Given the description of an element on the screen output the (x, y) to click on. 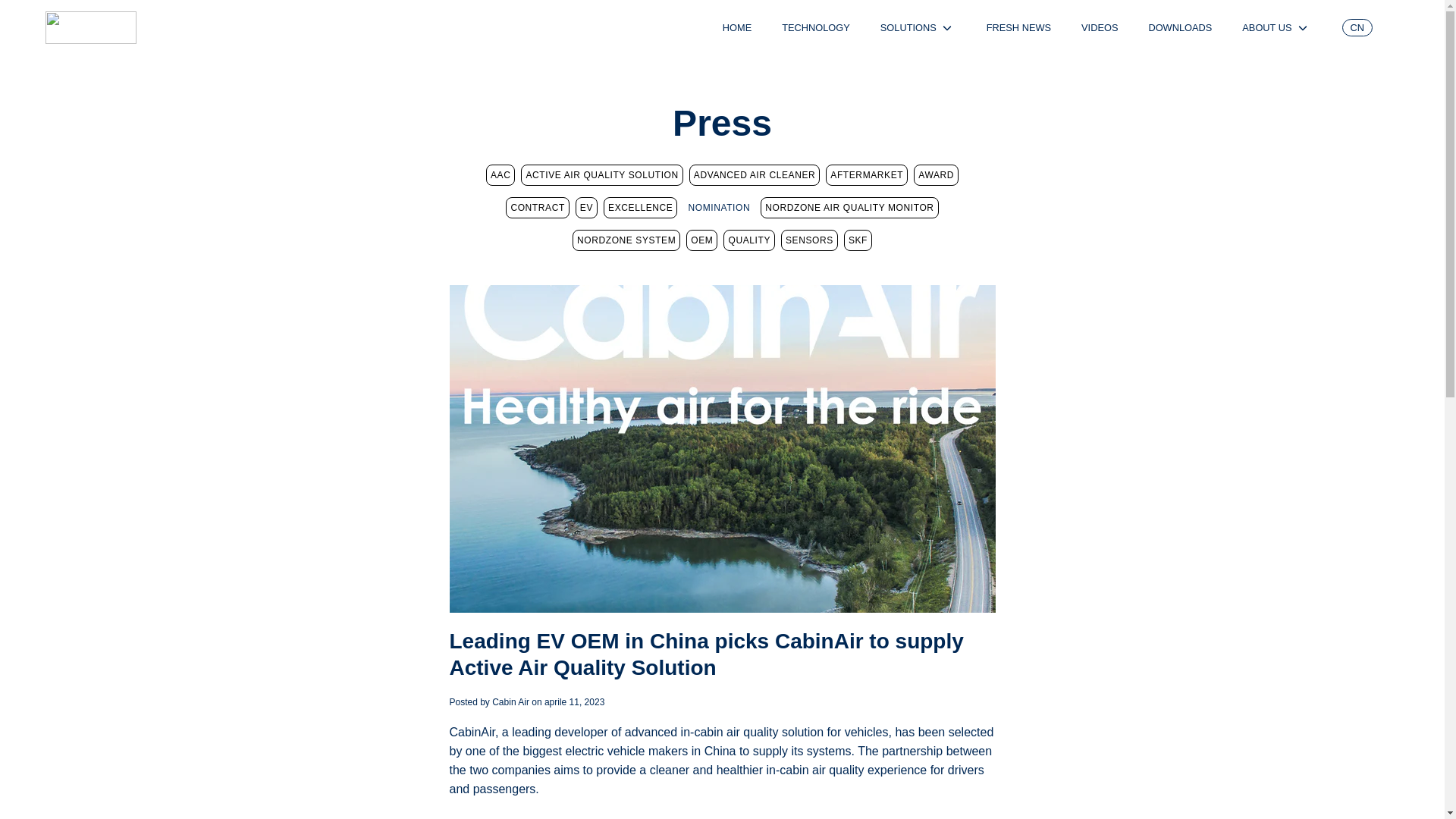
Show articles tagged Aftermarket (866, 174)
Show articles tagged Excellence (640, 207)
Show articles tagged Active Air Quality Solution (601, 174)
Show articles tagged advanced air cleaner (753, 174)
Show articles tagged SKF (858, 240)
Show articles tagged OEM (701, 240)
Show articles tagged AAC (500, 174)
Show articles tagged Award (936, 174)
TECHNOLOGY (815, 27)
Show articles tagged EV (585, 207)
HOME (736, 27)
Show articles tagged Sensors (809, 240)
Show articles tagged Nordzone Air quality monitor (848, 207)
SOLUTIONS (908, 27)
Show articles tagged Quality (748, 240)
